Given the description of an element on the screen output the (x, y) to click on. 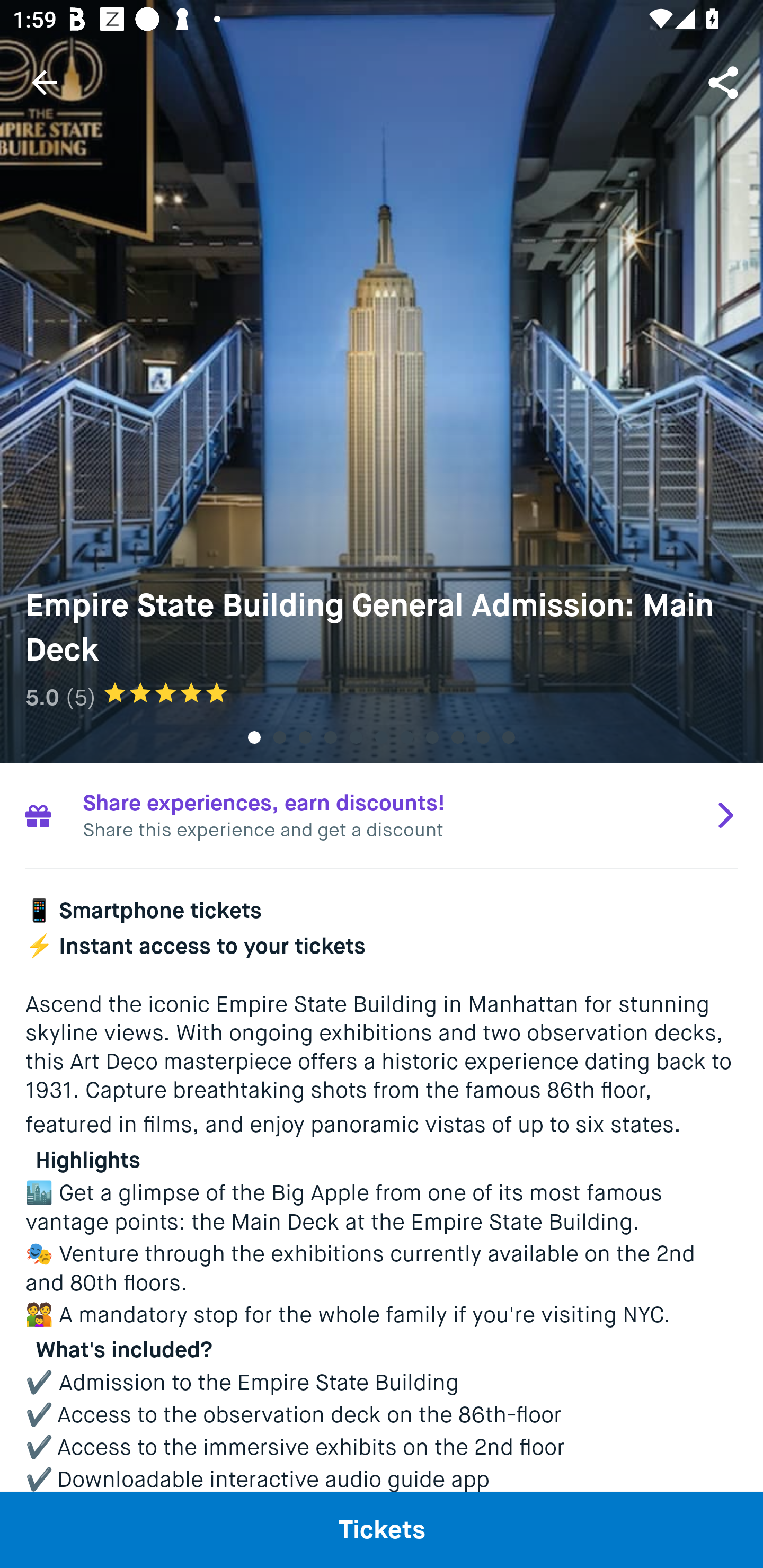
Navigate up (44, 82)
Share (724, 81)
(5) (80, 697)
Tickets (381, 1529)
